Given the description of an element on the screen output the (x, y) to click on. 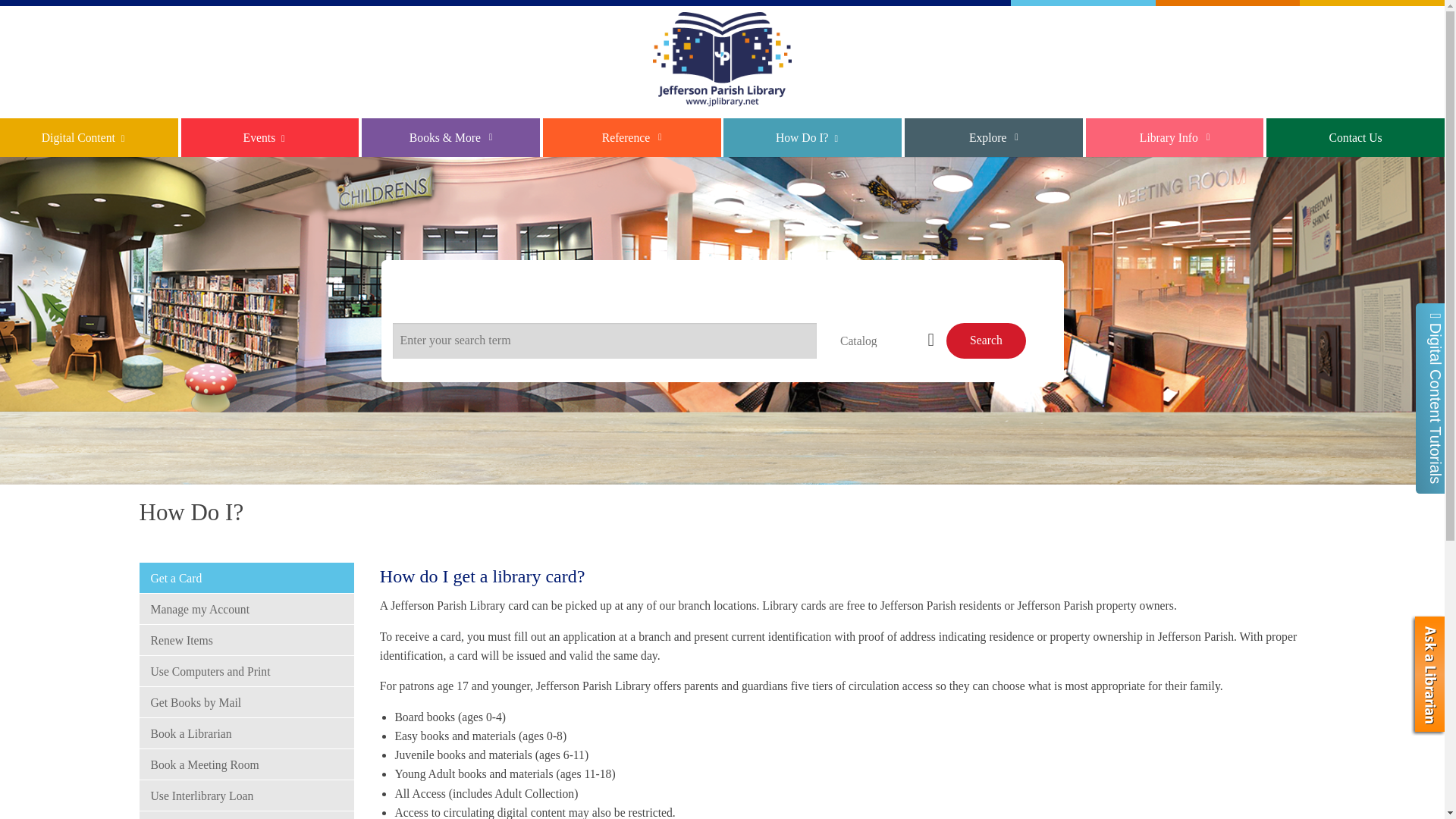
Skip to Search (34, 0)
Search (986, 340)
Skip to Footer (34, 0)
